Given the description of an element on the screen output the (x, y) to click on. 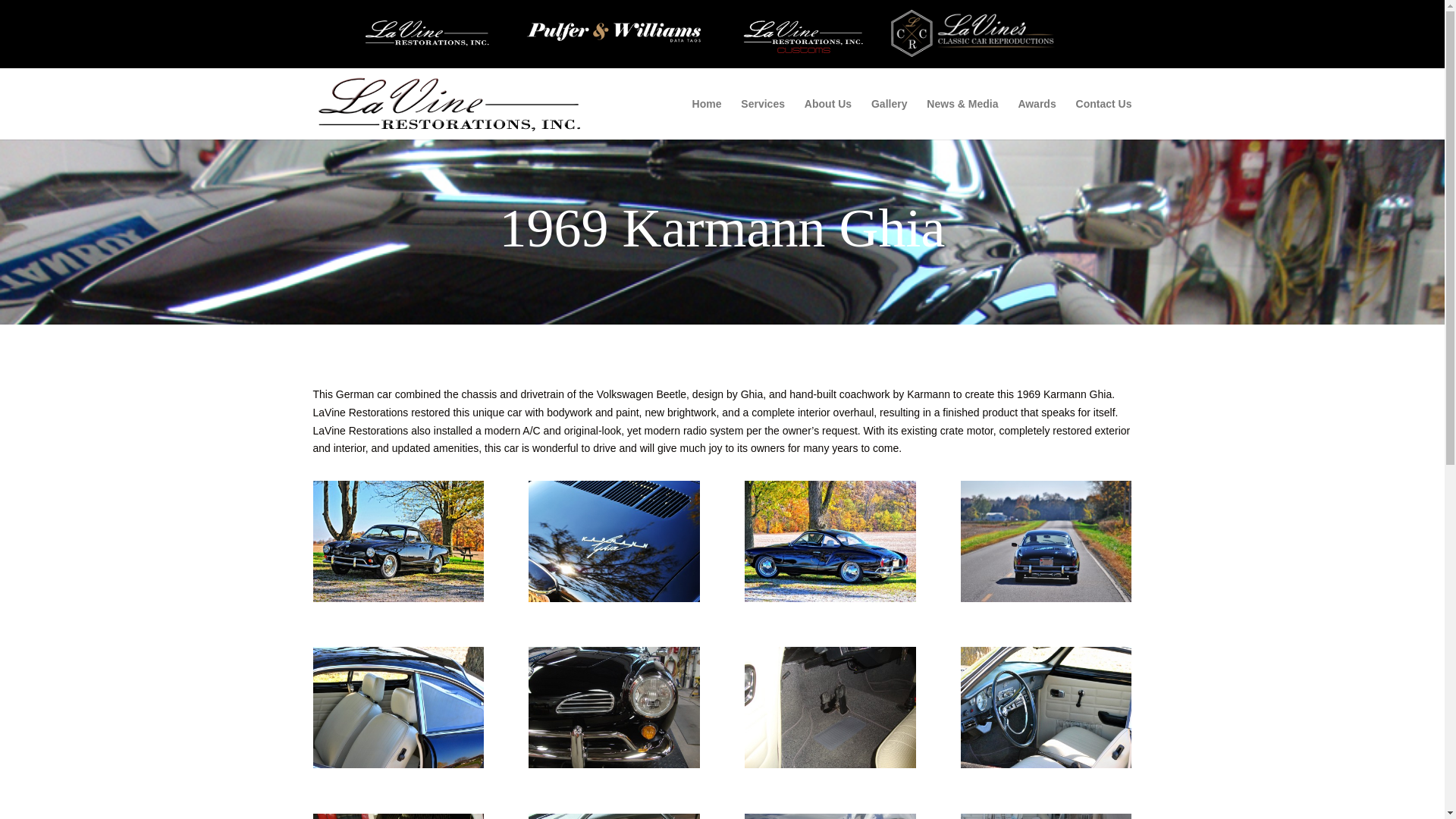
Contact Us (1103, 118)
Services (762, 118)
Awards (1036, 118)
About Us (828, 118)
